Given the description of an element on the screen output the (x, y) to click on. 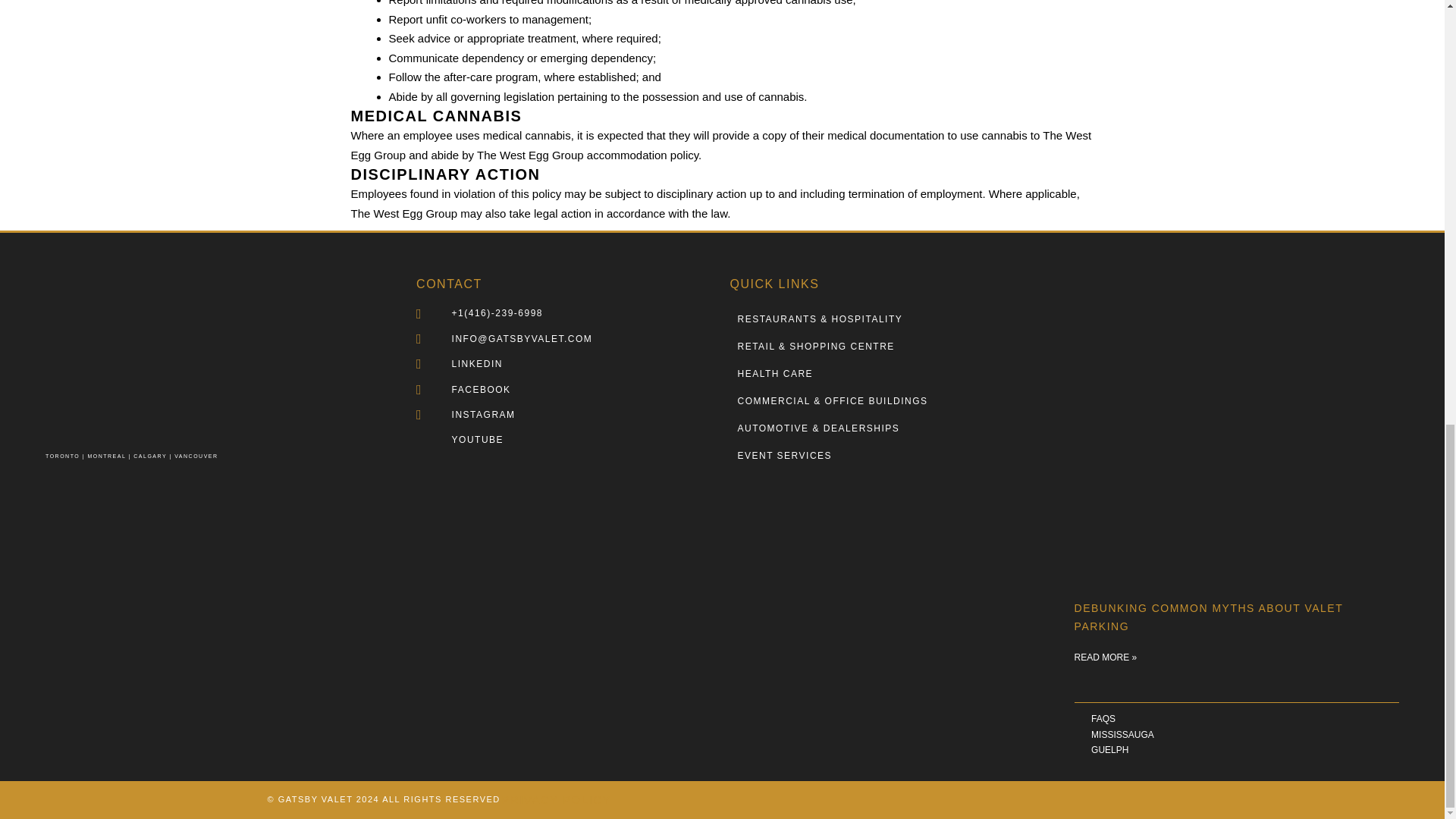
LINKEDIN (569, 363)
EVENT SERVICES (893, 455)
HEALTH CARE (893, 373)
INSTAGRAM (569, 414)
YOUTUBE (569, 439)
FACEBOOK (569, 389)
